Given the description of an element on the screen output the (x, y) to click on. 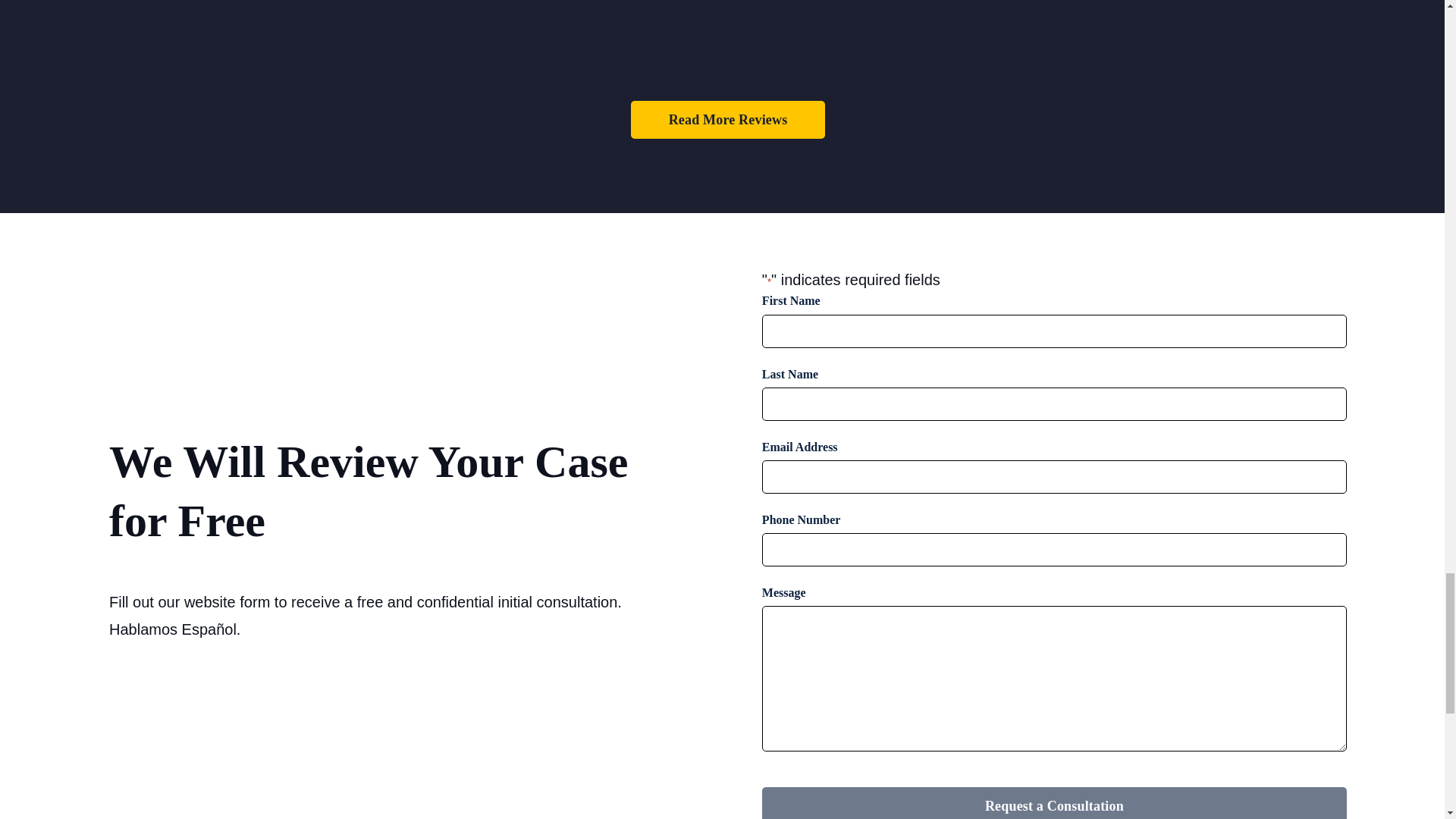
Request a Consultation (1053, 803)
